Given the description of an element on the screen output the (x, y) to click on. 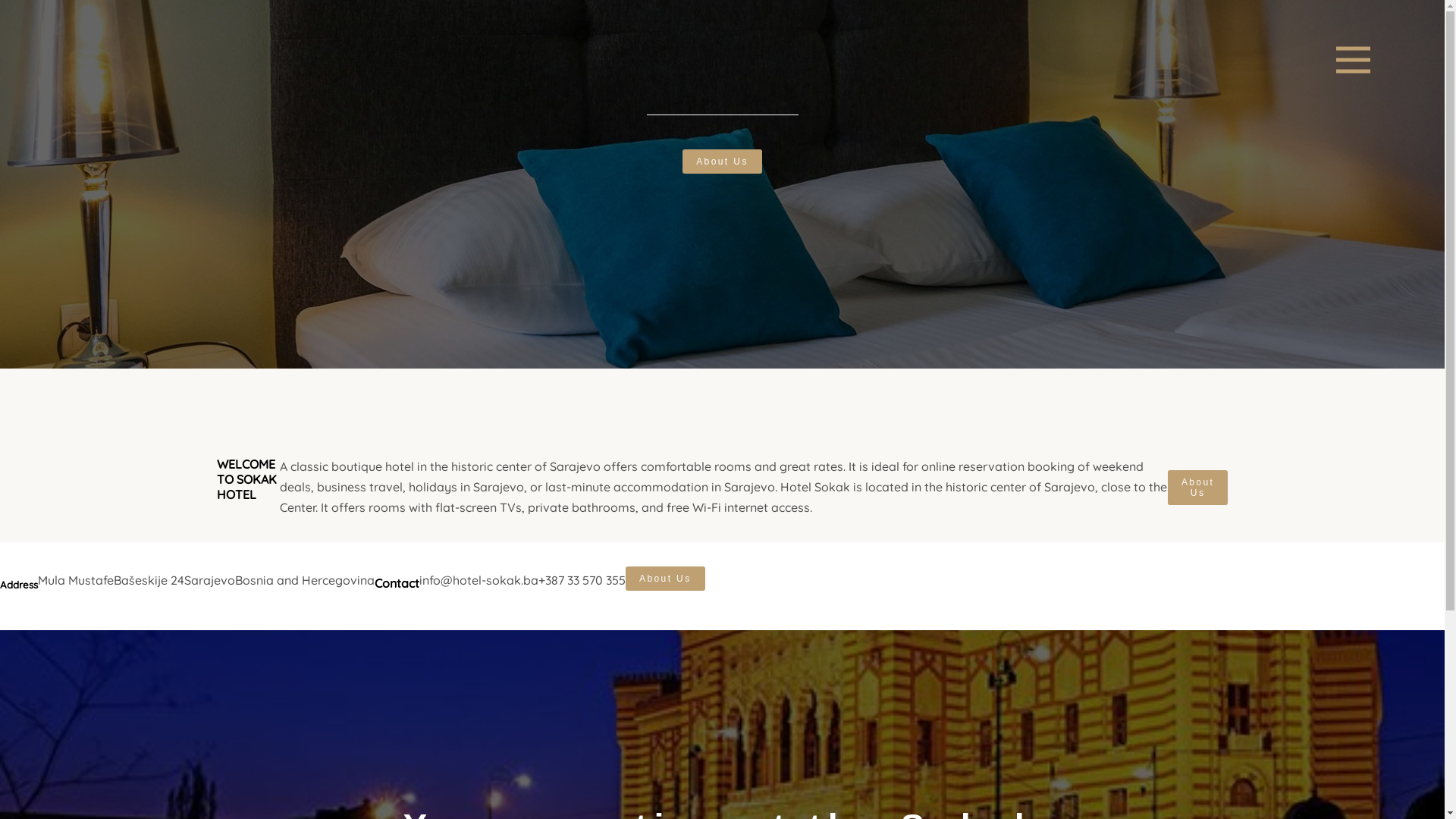
About Us Element type: text (1197, 487)
About Us Element type: text (722, 161)
About Us Element type: text (665, 578)
